Given the description of an element on the screen output the (x, y) to click on. 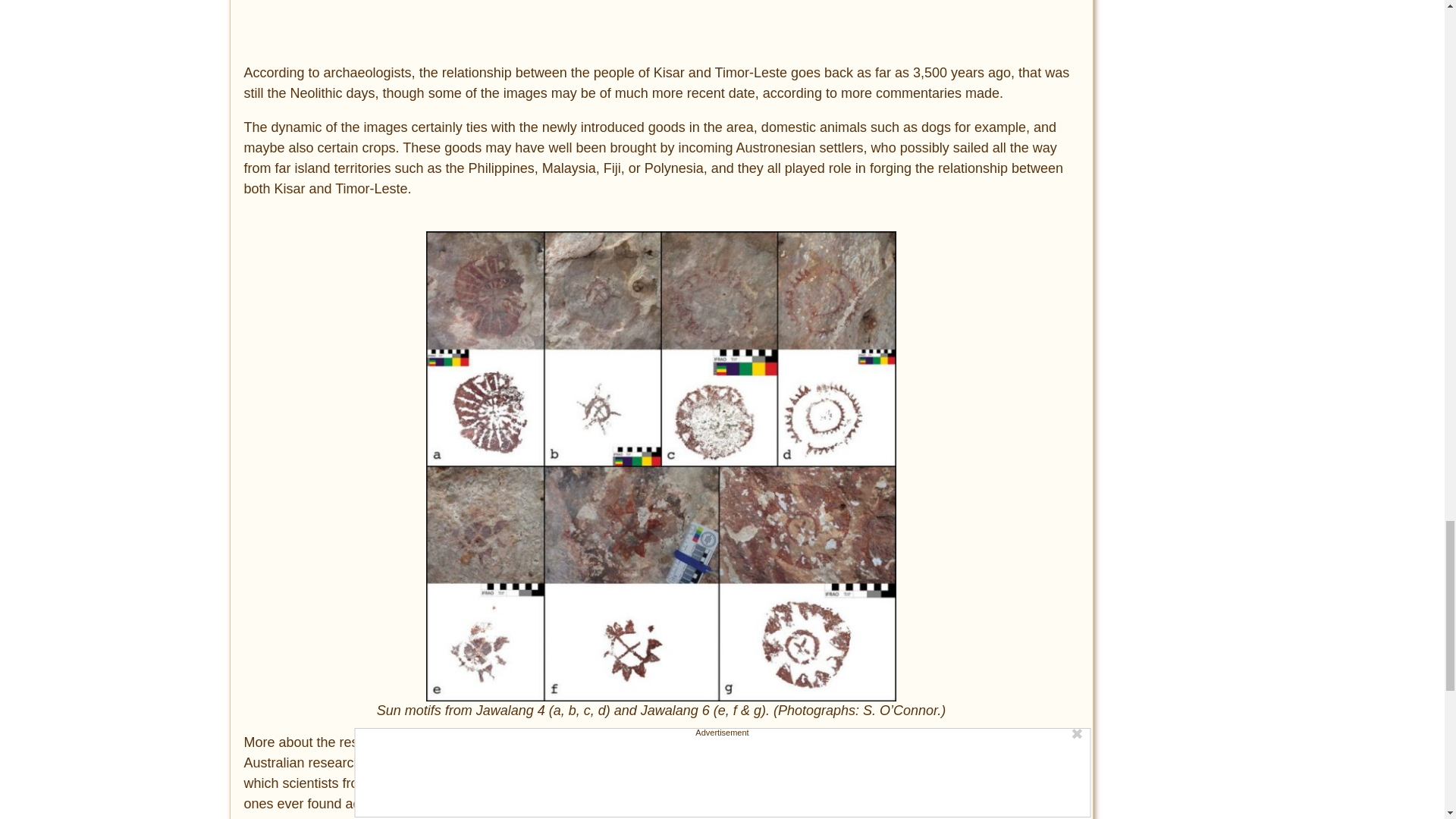
7 Things You May Not Know About The Mayans (479, 21)
